Given the description of an element on the screen output the (x, y) to click on. 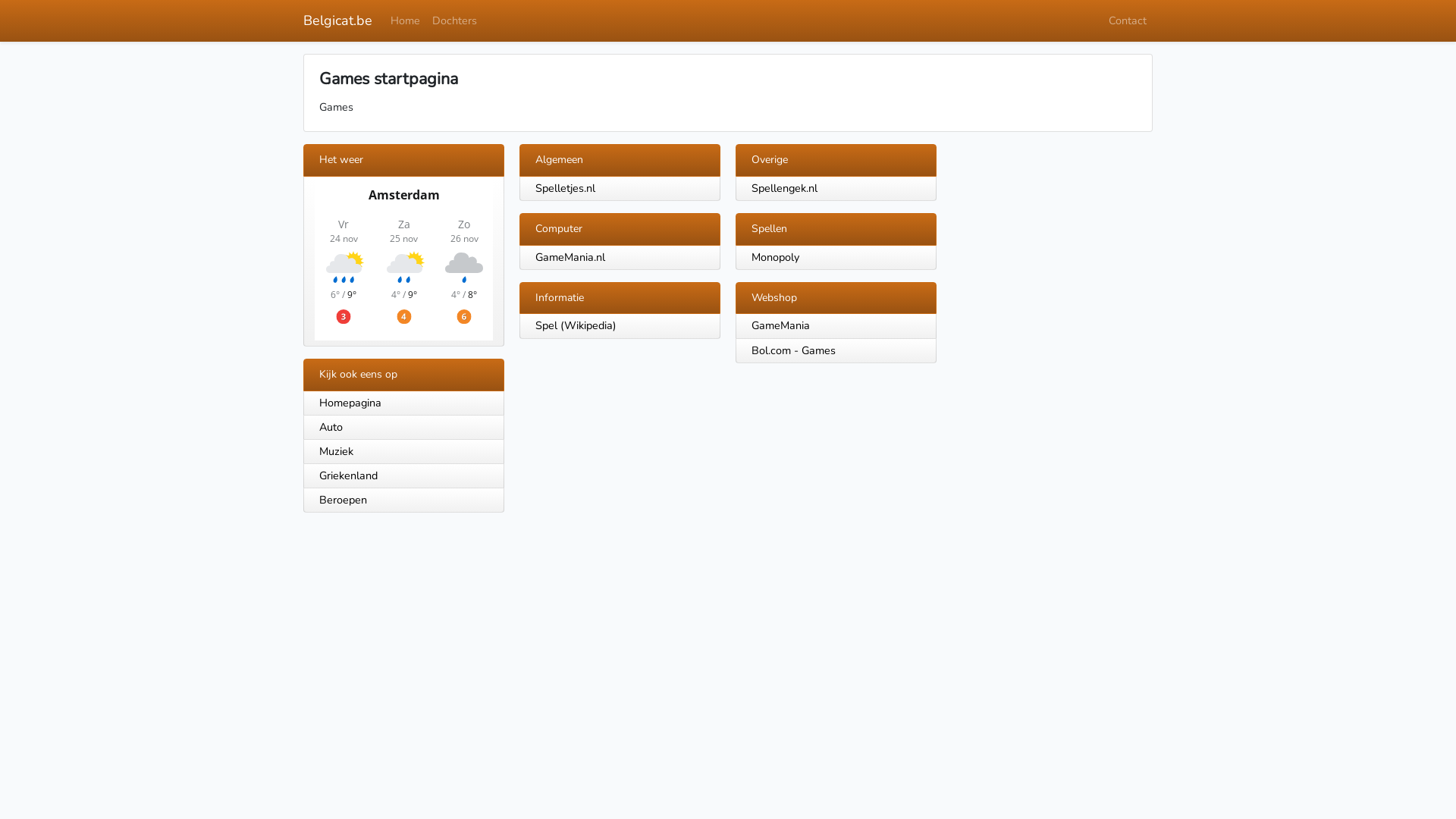
Auto Element type: text (403, 427)
Contact Element type: text (1127, 20)
Spel (Wikipedia) Element type: text (575, 324)
Spelletjes.nl Element type: text (565, 187)
Home Element type: text (405, 20)
Spellengek.nl Element type: text (784, 187)
Dochters Element type: text (454, 20)
GameMania Element type: text (780, 324)
GameMania.nl Element type: text (570, 256)
Belgicat.be Element type: text (337, 20)
Homepagina Element type: text (403, 403)
Beroepen Element type: text (403, 500)
Griekenland Element type: text (403, 476)
Bol.com - Games Element type: text (793, 349)
Monopoly Element type: text (775, 256)
Muziek Element type: text (403, 451)
